Given the description of an element on the screen output the (x, y) to click on. 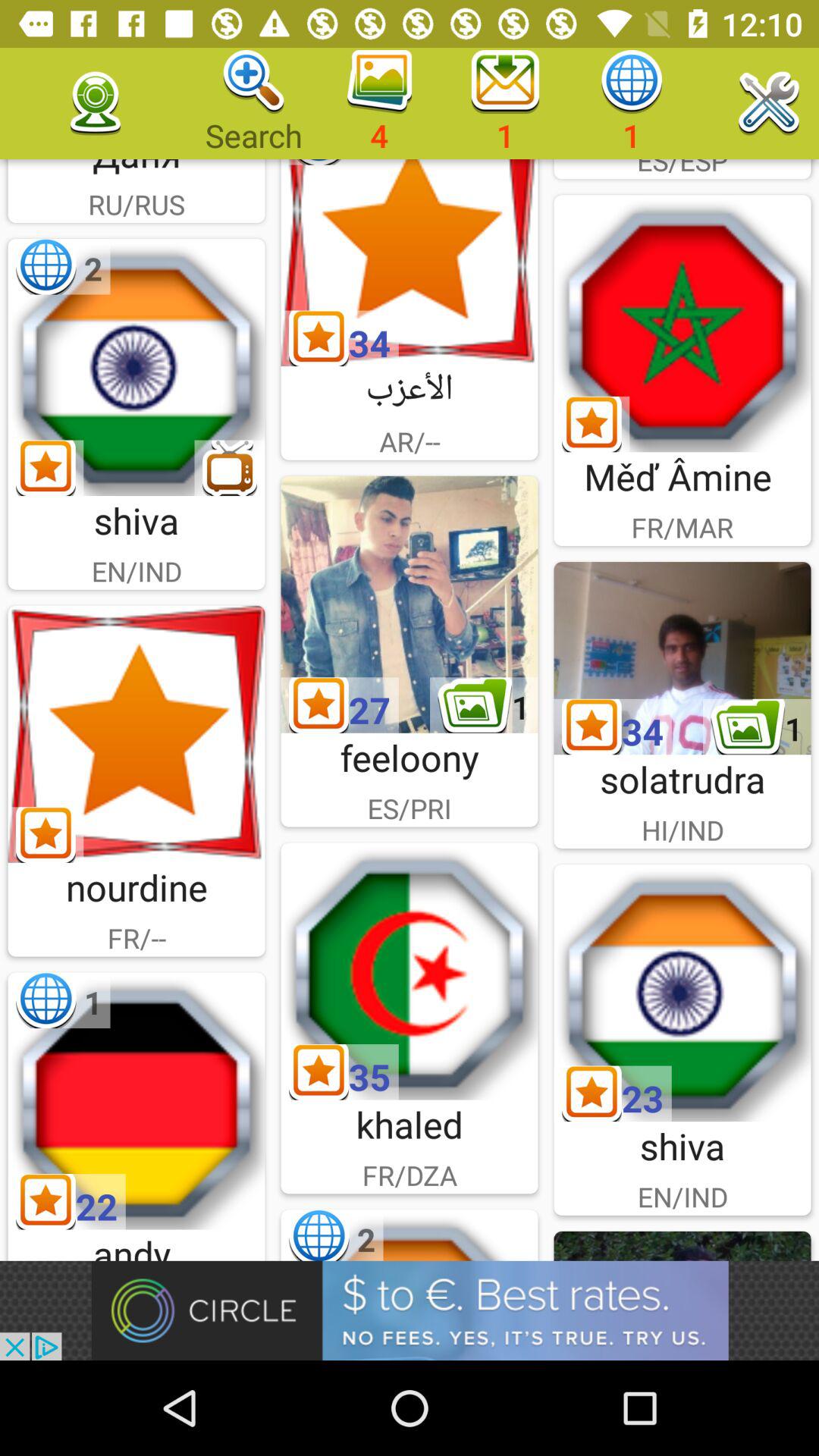
select one pert (136, 1100)
